Given the description of an element on the screen output the (x, y) to click on. 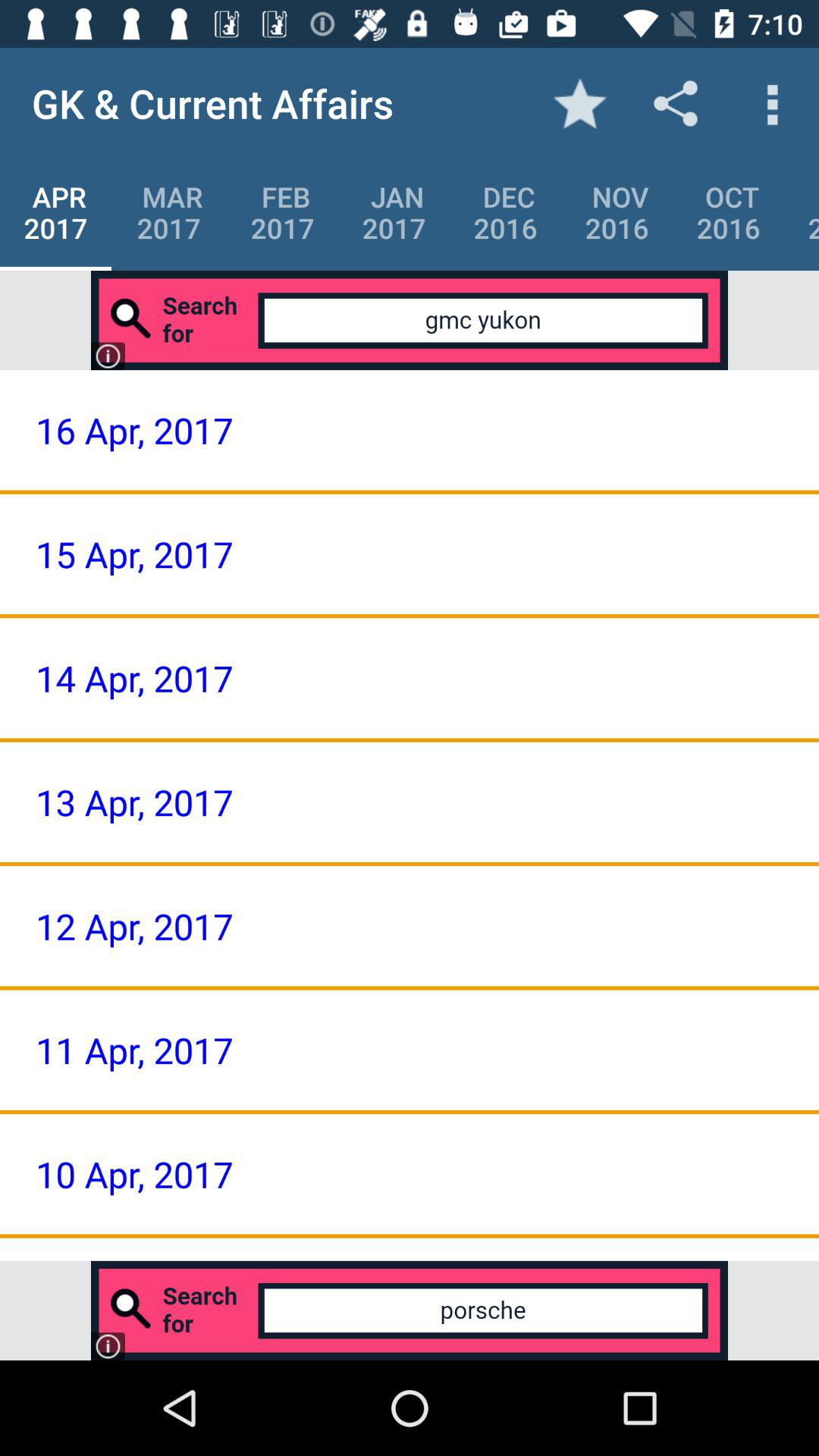
jump until jan
2017 item (393, 212)
